Given the description of an element on the screen output the (x, y) to click on. 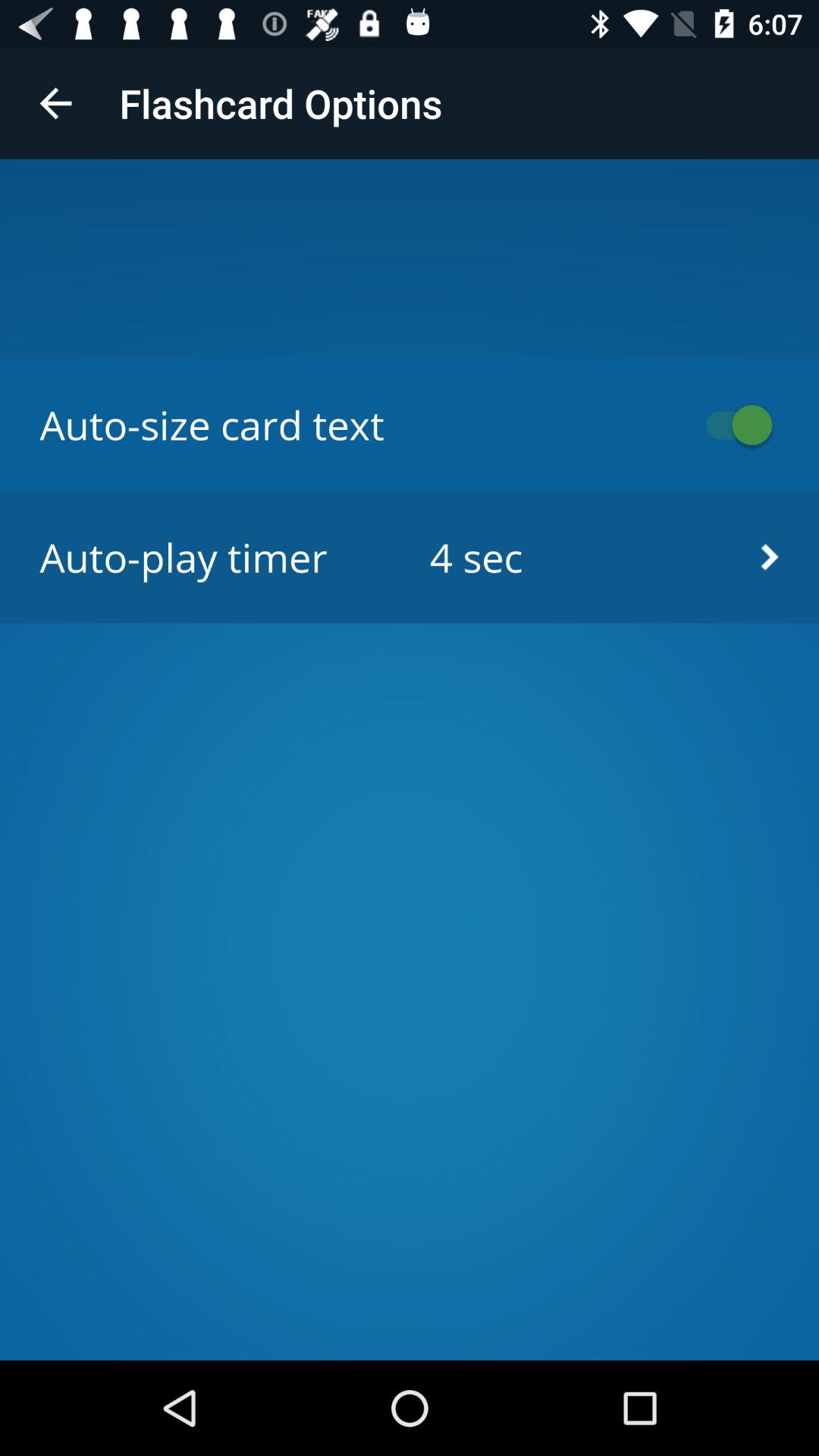
toggle the auto-size card text (731, 425)
